Given the description of an element on the screen output the (x, y) to click on. 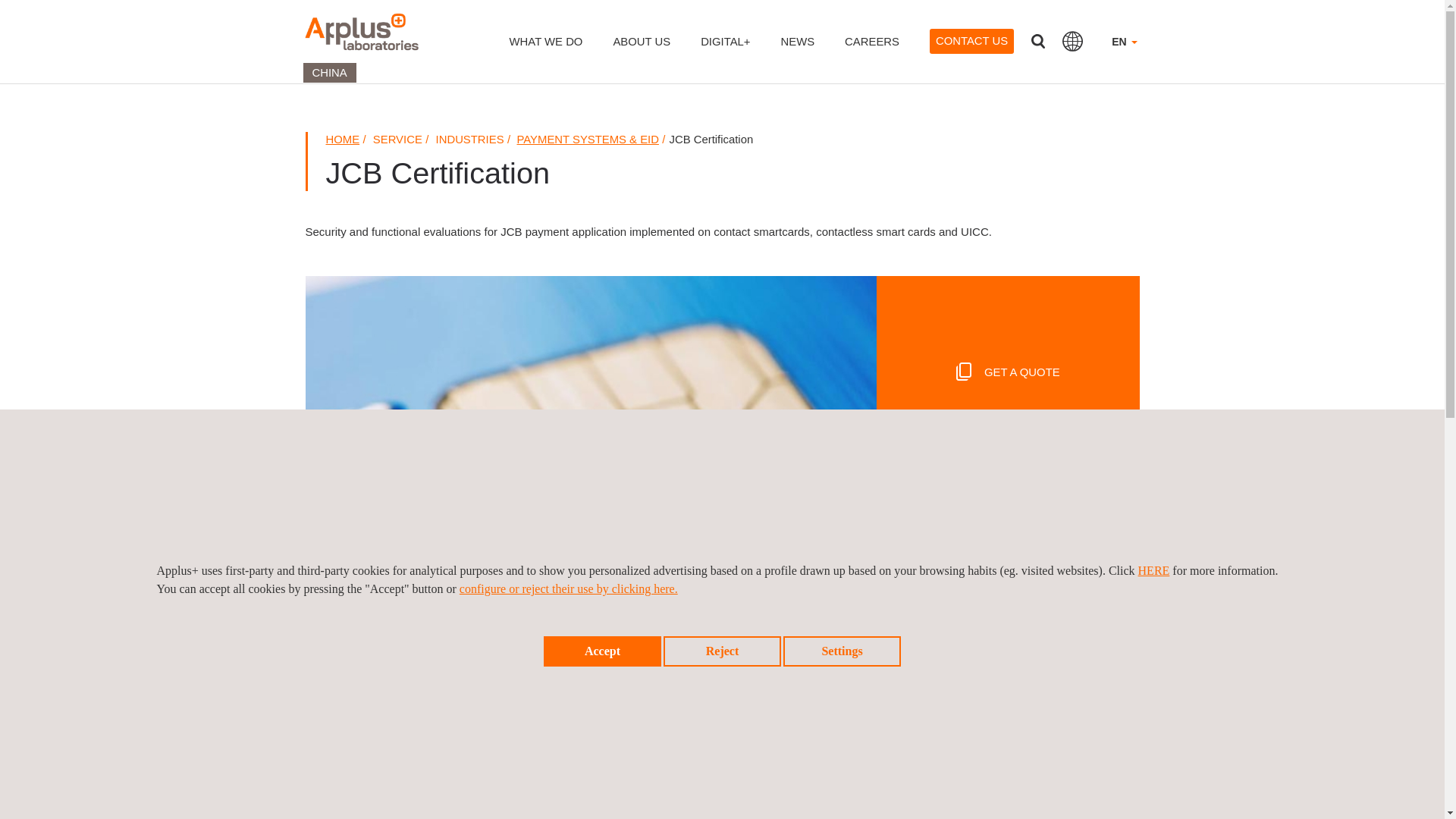
WHAT WE DO (546, 51)
Countries (1071, 40)
JCB Certification (1007, 577)
EN (1123, 51)
Search (1037, 41)
